Given the description of an element on the screen output the (x, y) to click on. 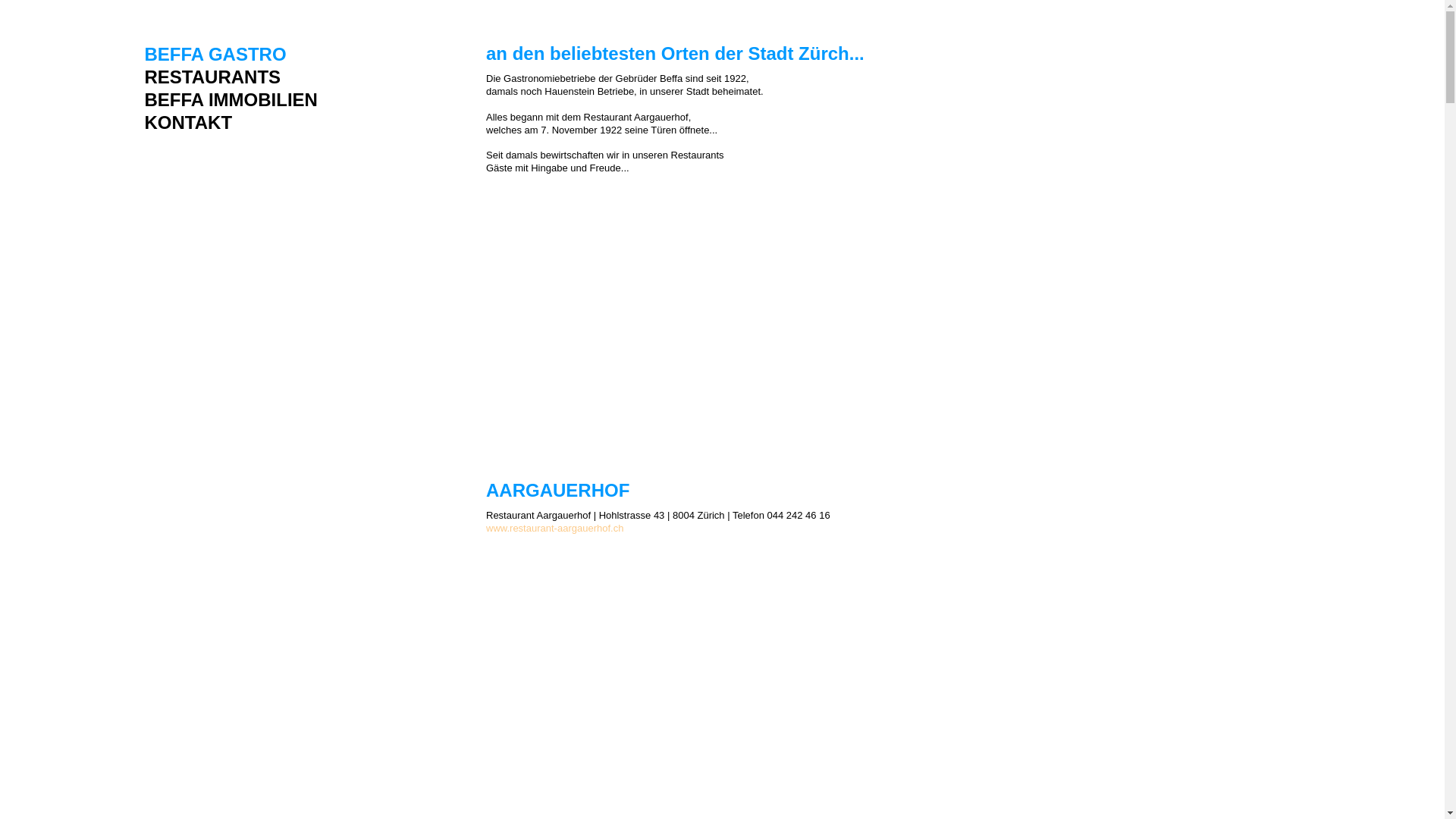
KONTAKT Element type: text (230, 122)
RESTAURANTS Element type: text (230, 77)
www.restaurant-aargauerhof.ch Element type: text (554, 527)
BEFFA GASTRO Element type: text (230, 54)
BEFFA IMMOBILIEN Element type: text (230, 100)
